Given the description of an element on the screen output the (x, y) to click on. 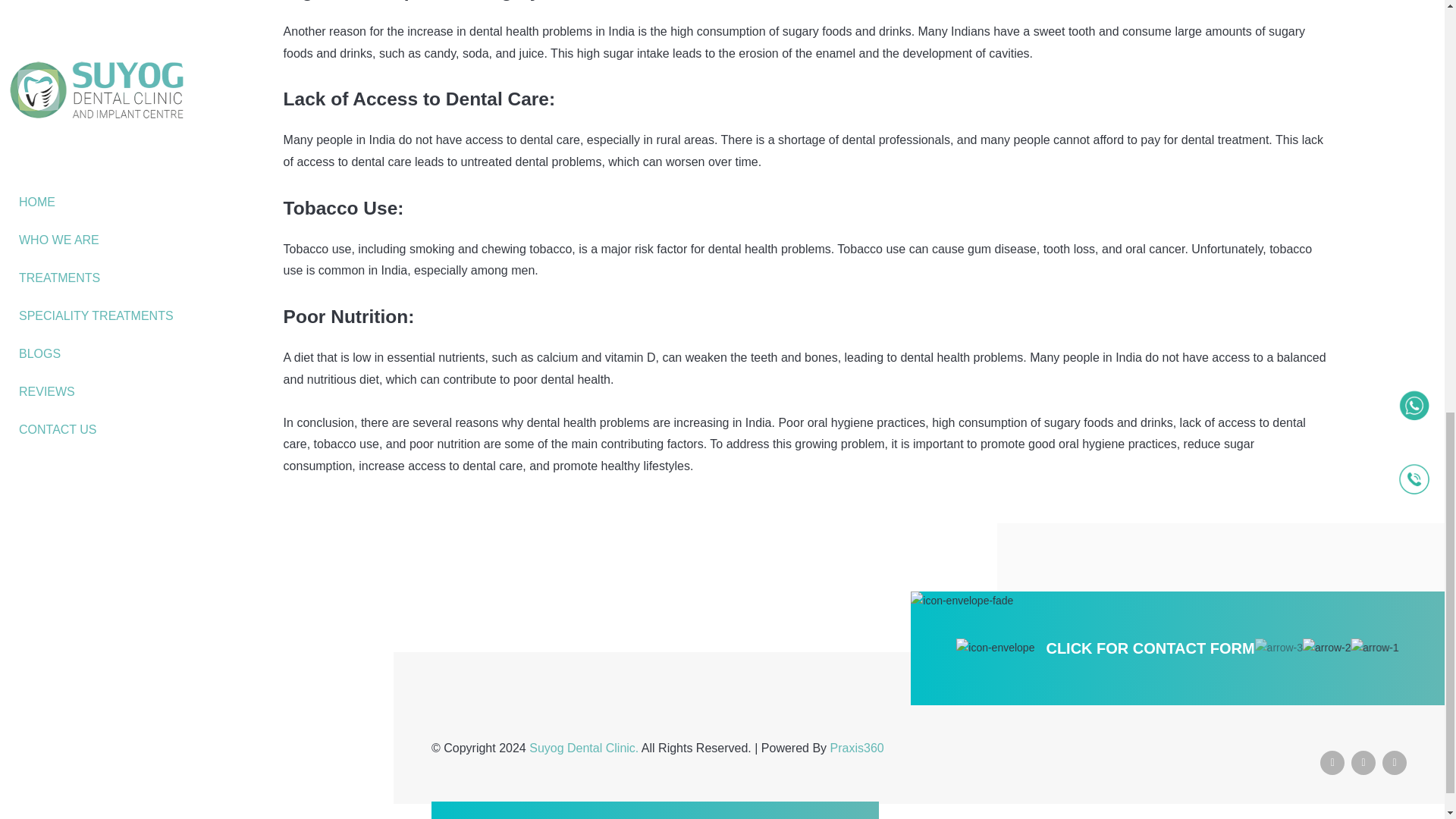
CLICK FOR CONTACT FORM (1149, 647)
Praxis360 (856, 748)
Suyog Dental Clinic. (585, 748)
